Given the description of an element on the screen output the (x, y) to click on. 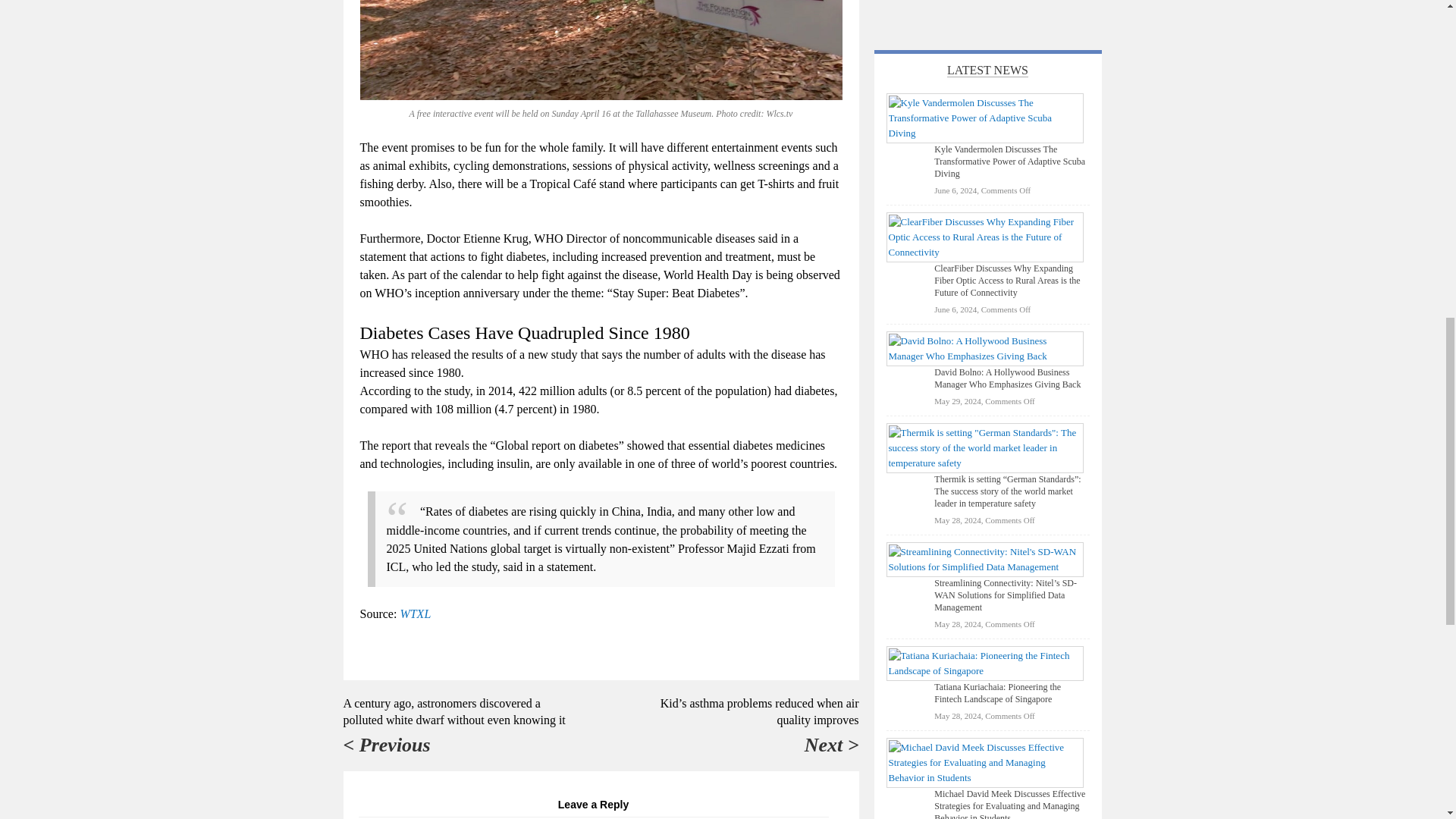
Advertisement (986, 11)
WTXL  (414, 613)
